Given the description of an element on the screen output the (x, y) to click on. 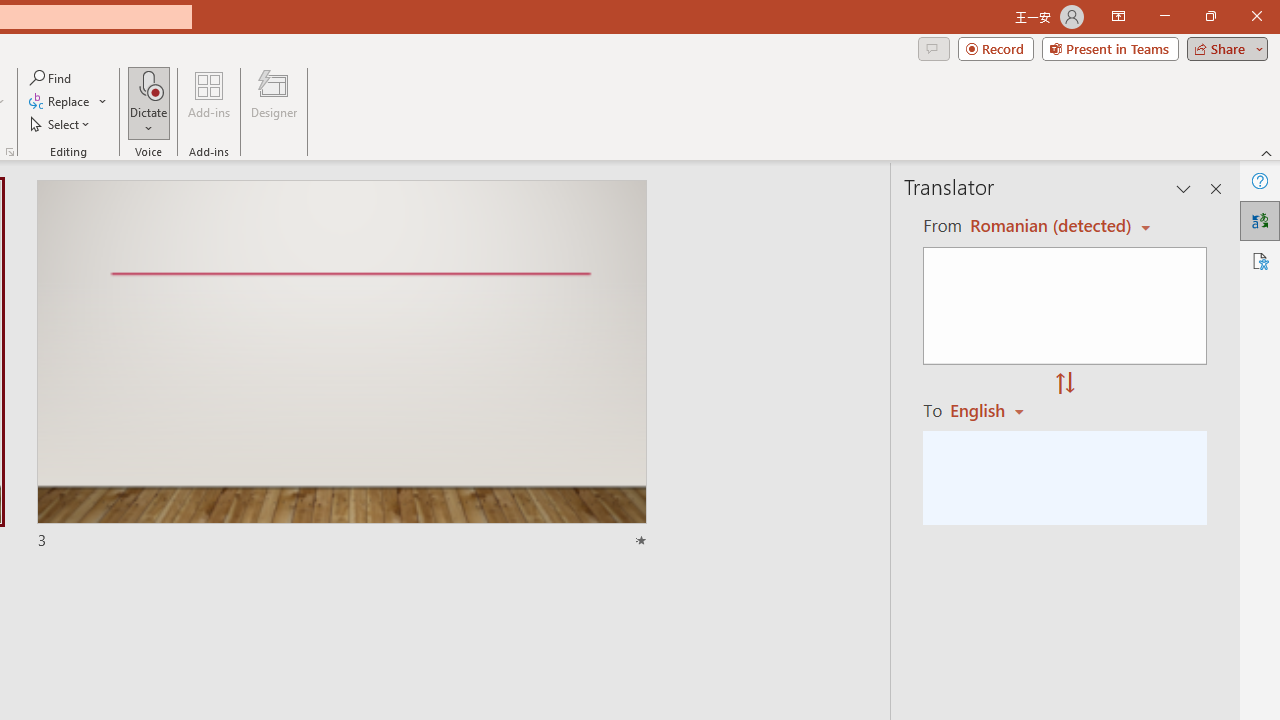
Share (1223, 48)
Romanian (994, 409)
